Given the description of an element on the screen output the (x, y) to click on. 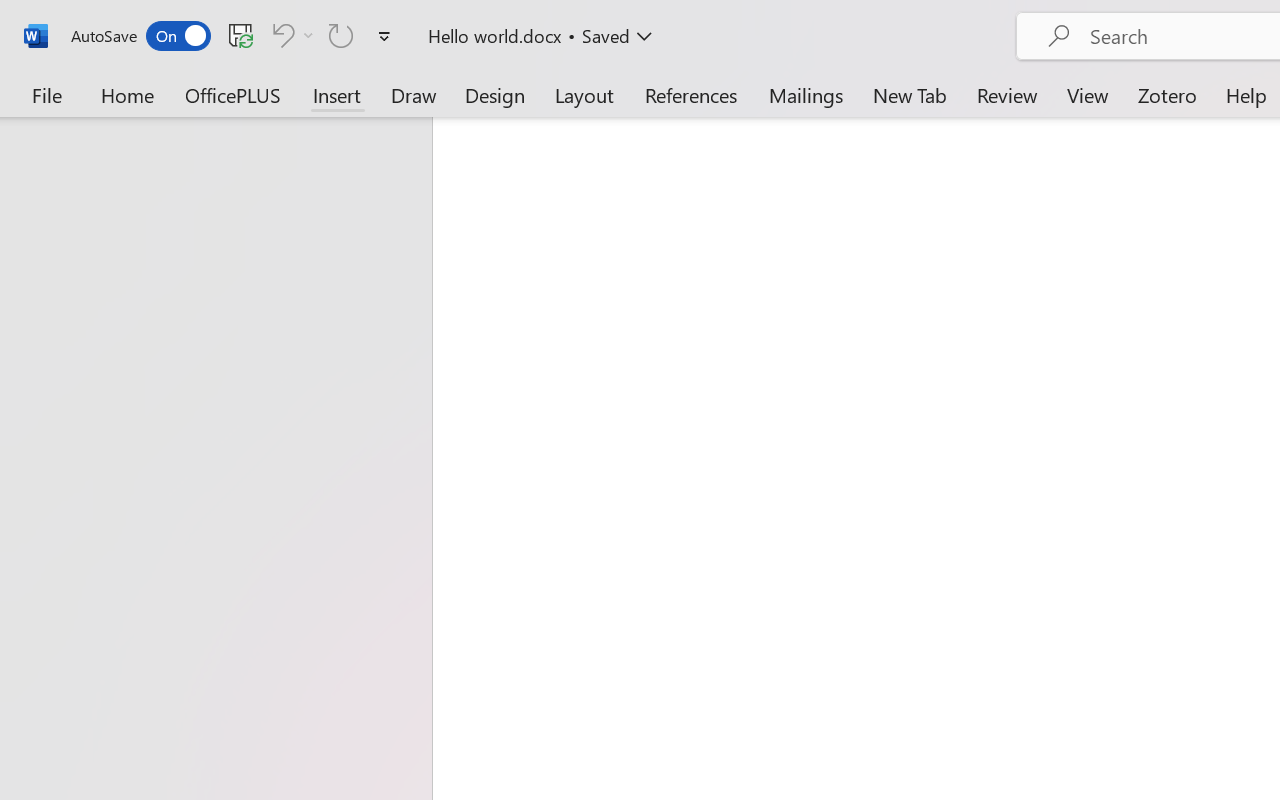
AutoSave (140, 35)
Review (1007, 94)
Zotero (1166, 94)
Can't Undo (280, 35)
References (690, 94)
Design (495, 94)
File Tab (46, 94)
View (1087, 94)
Customize Quick Access Toolbar (384, 35)
